Given the description of an element on the screen output the (x, y) to click on. 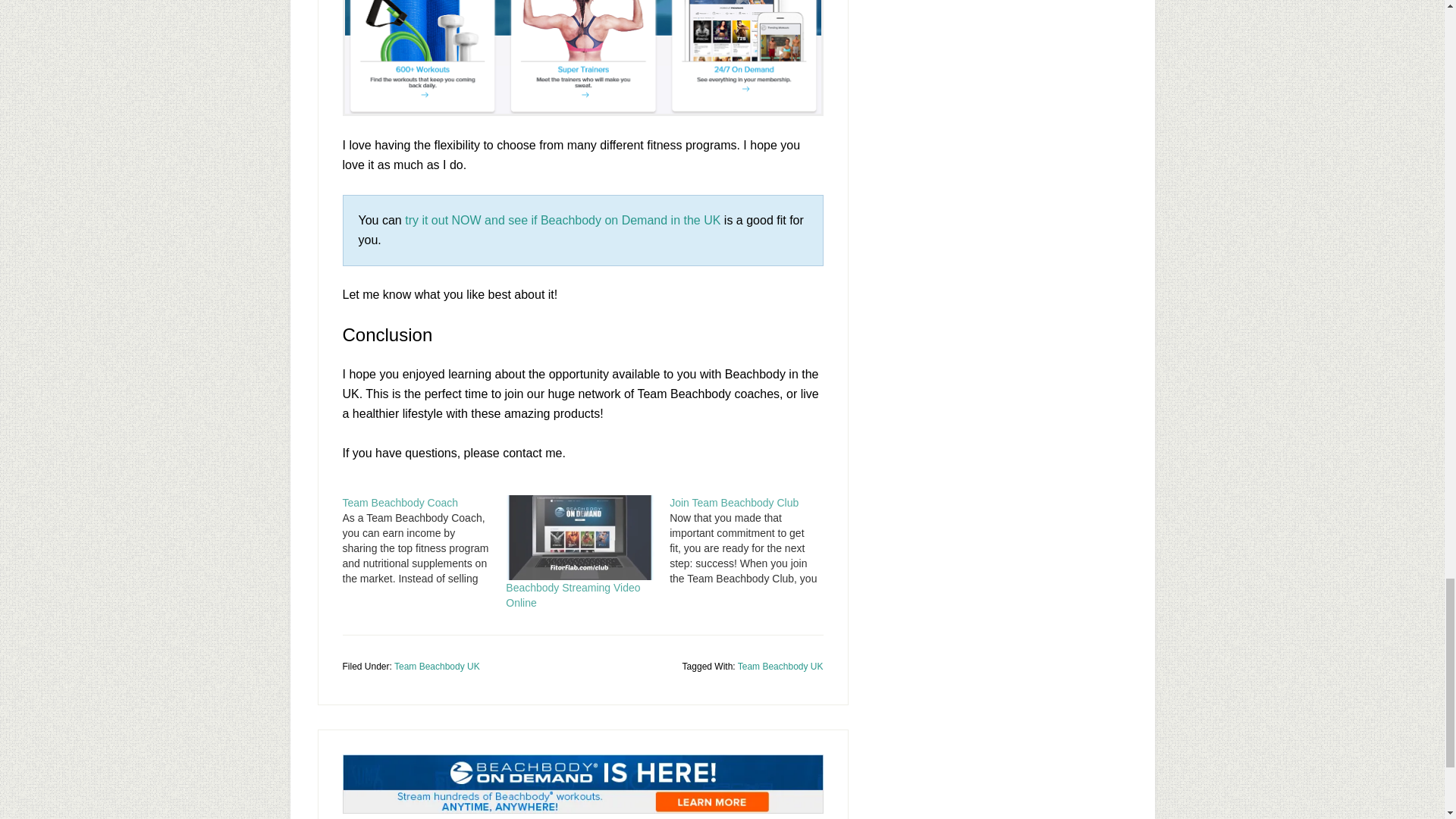
Join Team Beachbody Club (733, 502)
Join Team Beachbody Club (733, 502)
Join Team Beachbody Club (750, 540)
Beachbody Streaming Video Online (579, 537)
try it out NOW and see if Beachbody on Demand in the UK (562, 219)
Team Beachbody UK (437, 665)
Team Beachbody UK (781, 665)
Beachbody Streaming Video Online (572, 595)
Beachbody Streaming Video Online (572, 595)
Team Beachbody Coach (400, 502)
Team Beachbody Coach (400, 502)
Team Beachbody Coach (424, 540)
